Given the description of an element on the screen output the (x, y) to click on. 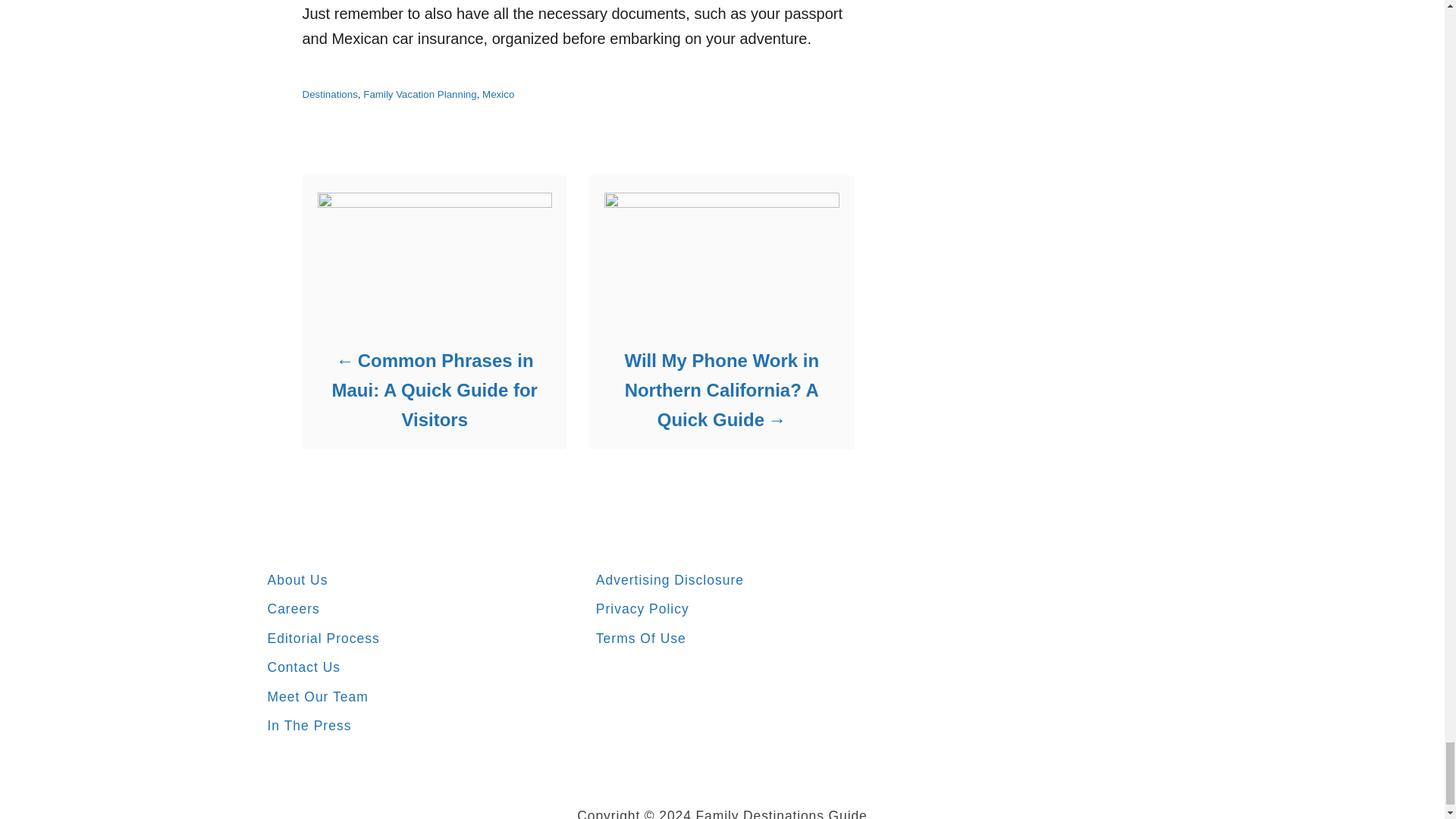
Destinations (328, 93)
